Given the description of an element on the screen output the (x, y) to click on. 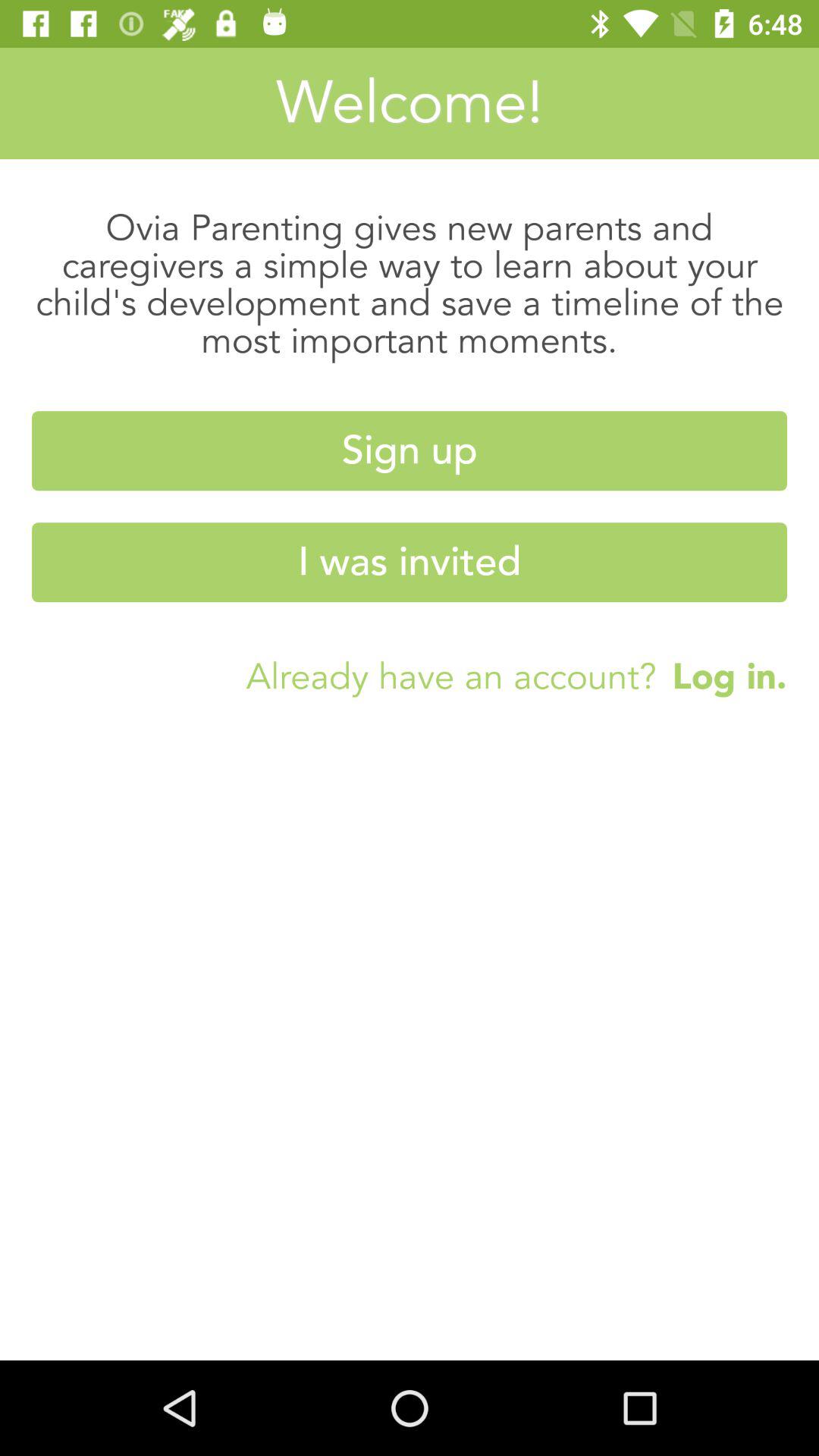
choose i was invited icon (409, 562)
